Given the description of an element on the screen output the (x, y) to click on. 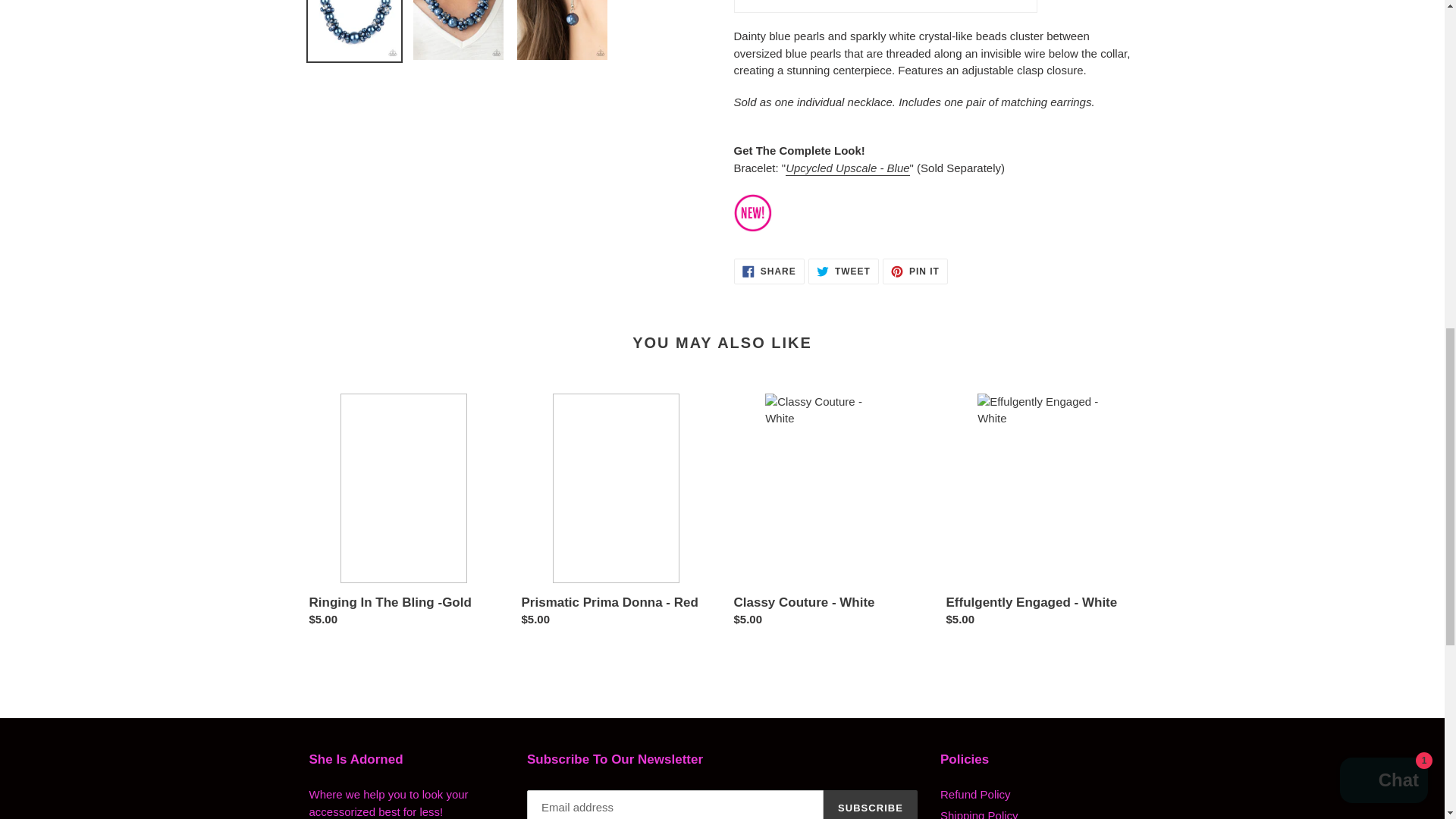
Upcycled Upscale - Blue  (847, 168)
